Given the description of an element on the screen output the (x, y) to click on. 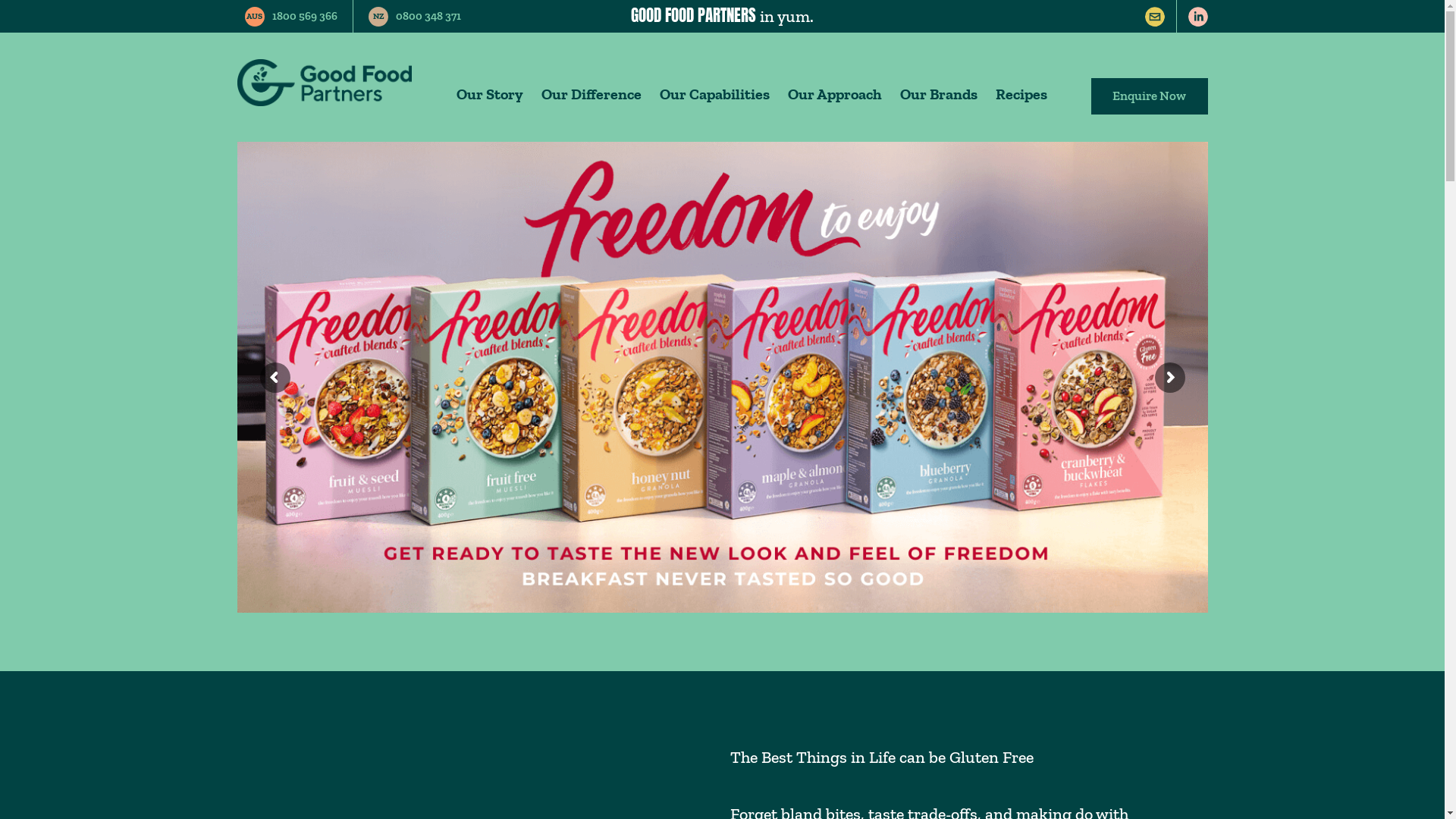
Our Approach Element type: text (834, 100)
Our Capabilities Element type: text (714, 100)
Our Brands Element type: text (938, 100)
Our Difference Element type: text (591, 100)
Our Story Element type: text (489, 100)
AUS
1800 569 366 Element type: text (294, 16)
NZ
0800 348 371 Element type: text (414, 16)
Recipes Element type: text (1021, 100)
Enquire Now Element type: text (1148, 96)
